Given the description of an element on the screen output the (x, y) to click on. 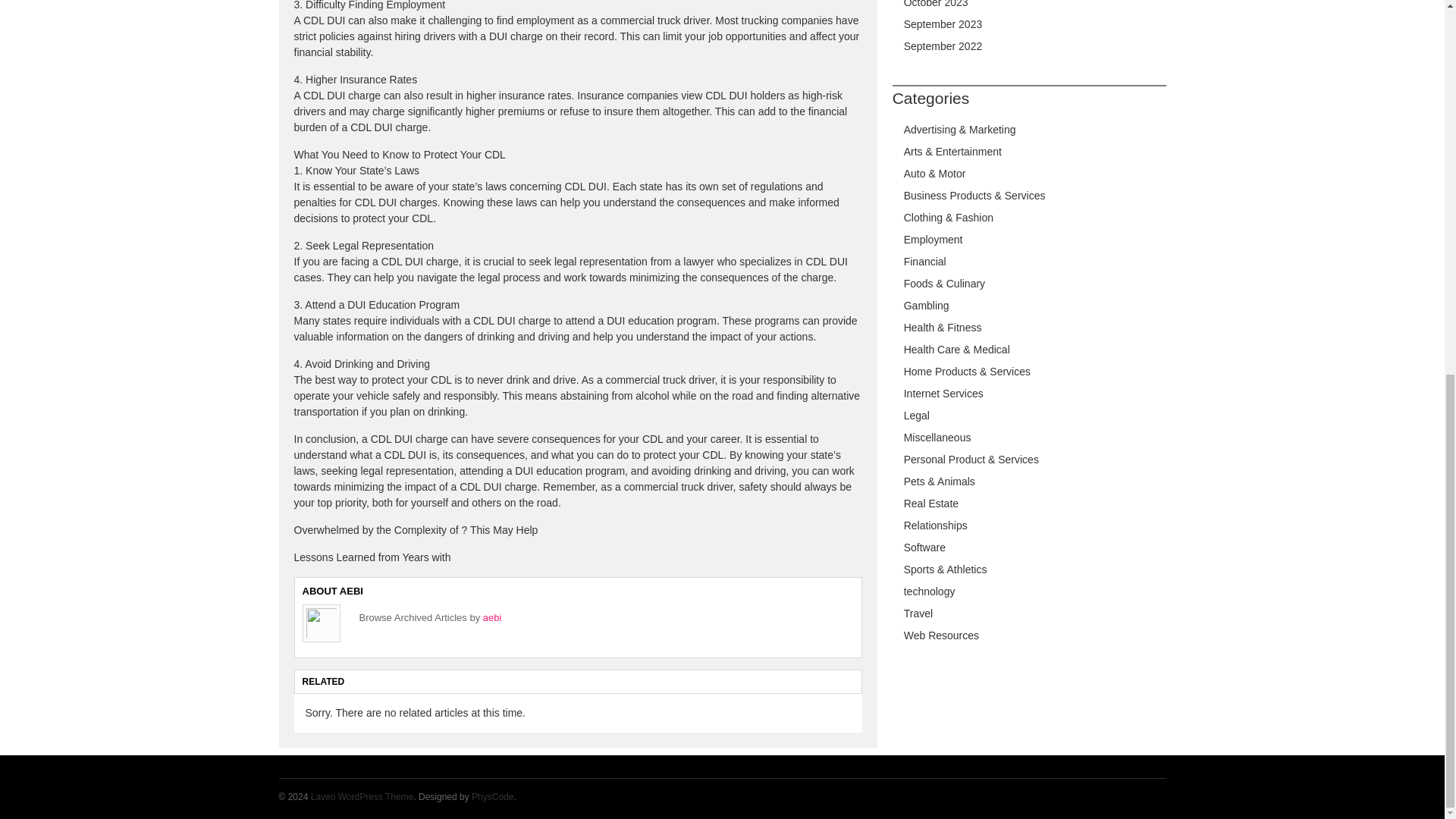
Overwhelmed by the Complexity of ? This May Help (416, 530)
aebi (492, 617)
Lessons Learned from Years with (372, 557)
October 2023 (936, 4)
Internet Services (944, 393)
Financial (925, 261)
September 2023 (943, 24)
September 2022 (943, 46)
Employment (933, 239)
Gambling (926, 305)
